Given the description of an element on the screen output the (x, y) to click on. 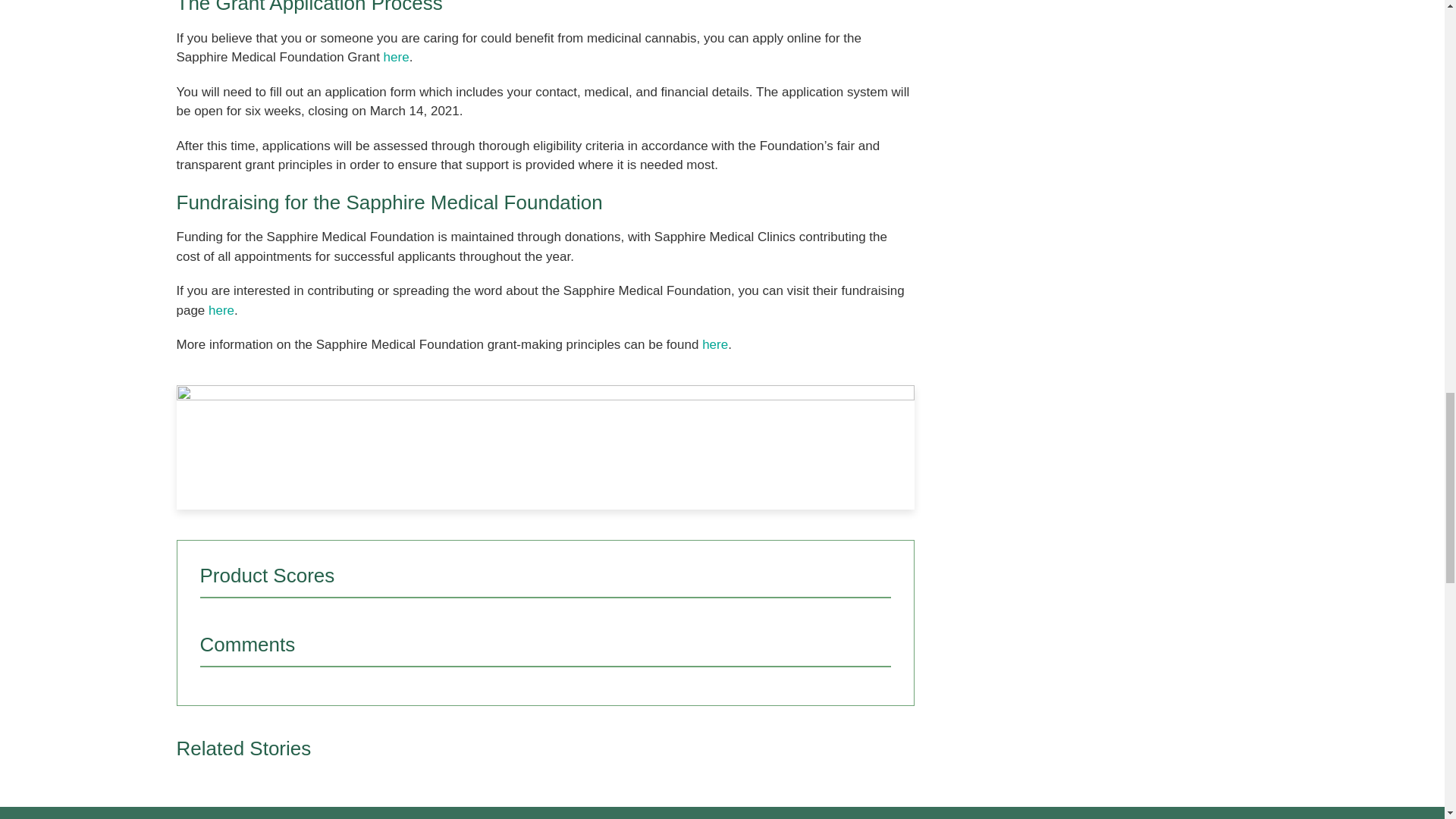
here (221, 310)
here (396, 56)
here (714, 344)
